Given the description of an element on the screen output the (x, y) to click on. 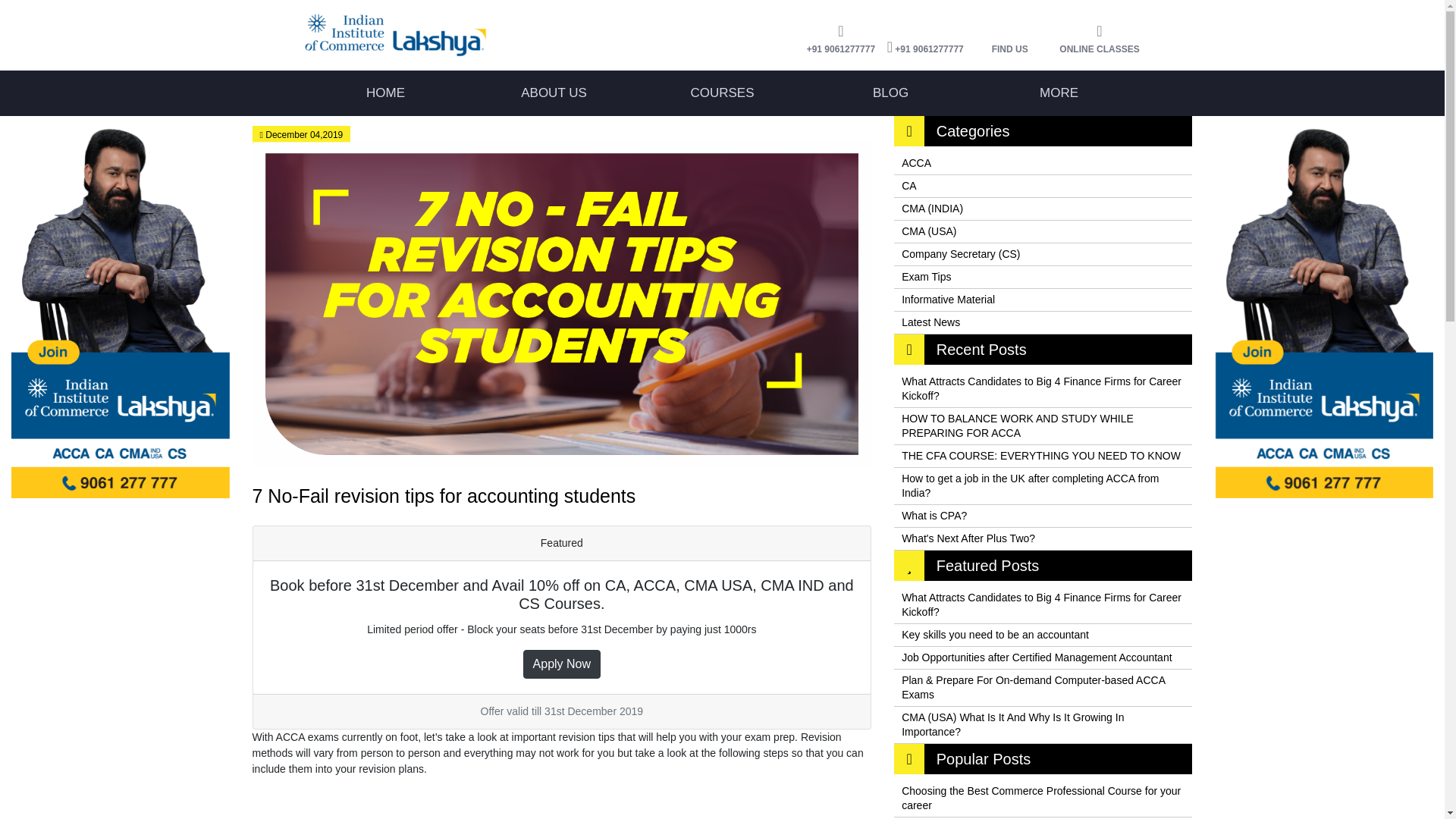
ABOUT US (554, 93)
FIND US (1009, 45)
ACCA (1042, 163)
How to get a job in the UK after completing ACCA from India? (1042, 485)
Key skills you need to be an accountant (1042, 635)
What is CPA? (1042, 516)
COURSES (722, 93)
Lakshya (434, 34)
CA (1042, 186)
CA (1042, 186)
HOW TO BALANCE WORK AND STUDY WHILE PREPARING FOR ACCA (1042, 425)
ACCA (1042, 163)
THE CFA COURSE: EVERYTHING YOU NEED TO KNOW (1042, 455)
Exam Tips (1042, 277)
